Given the description of an element on the screen output the (x, y) to click on. 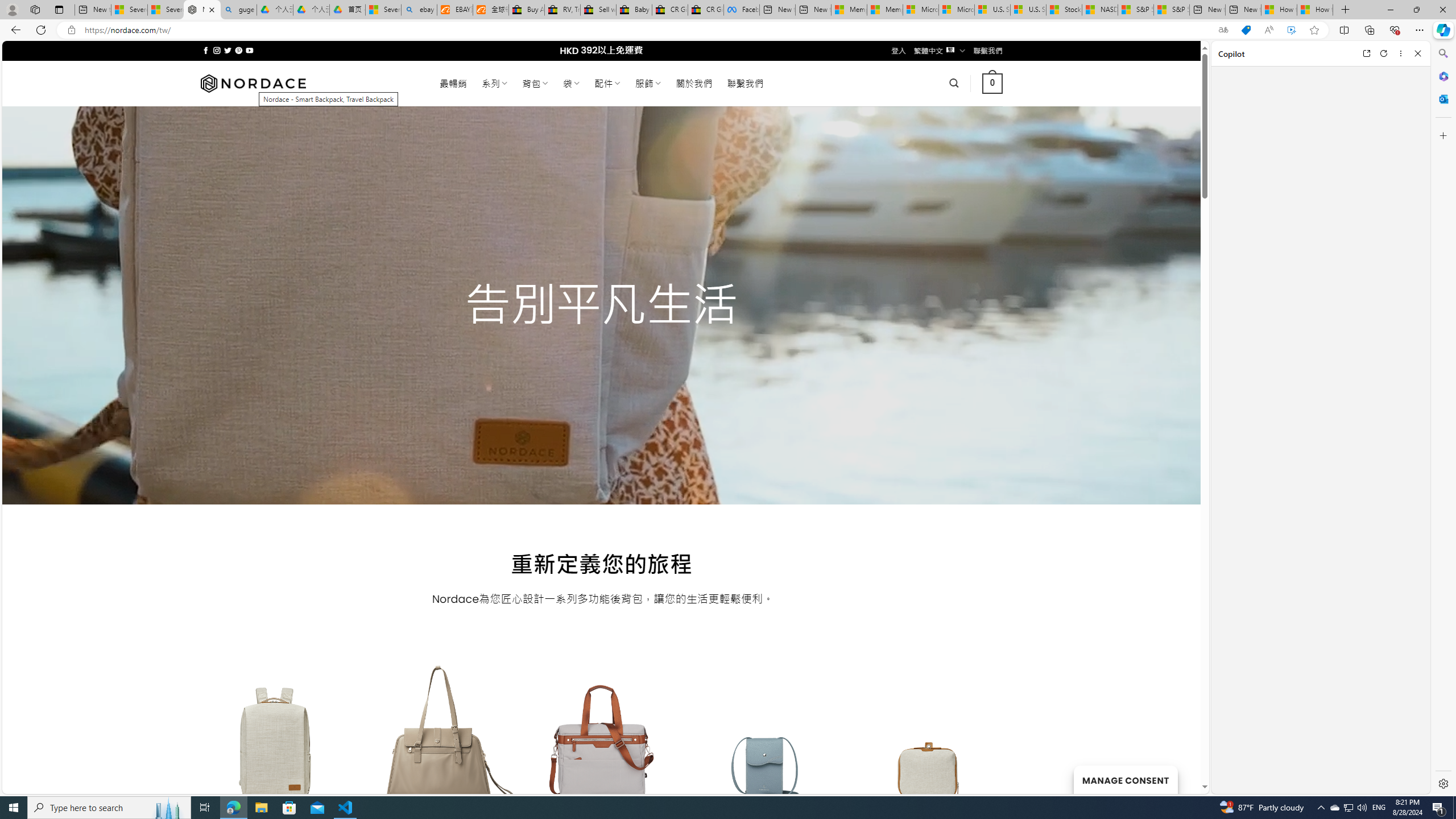
Open link in new tab (1366, 53)
